Given the description of an element on the screen output the (x, y) to click on. 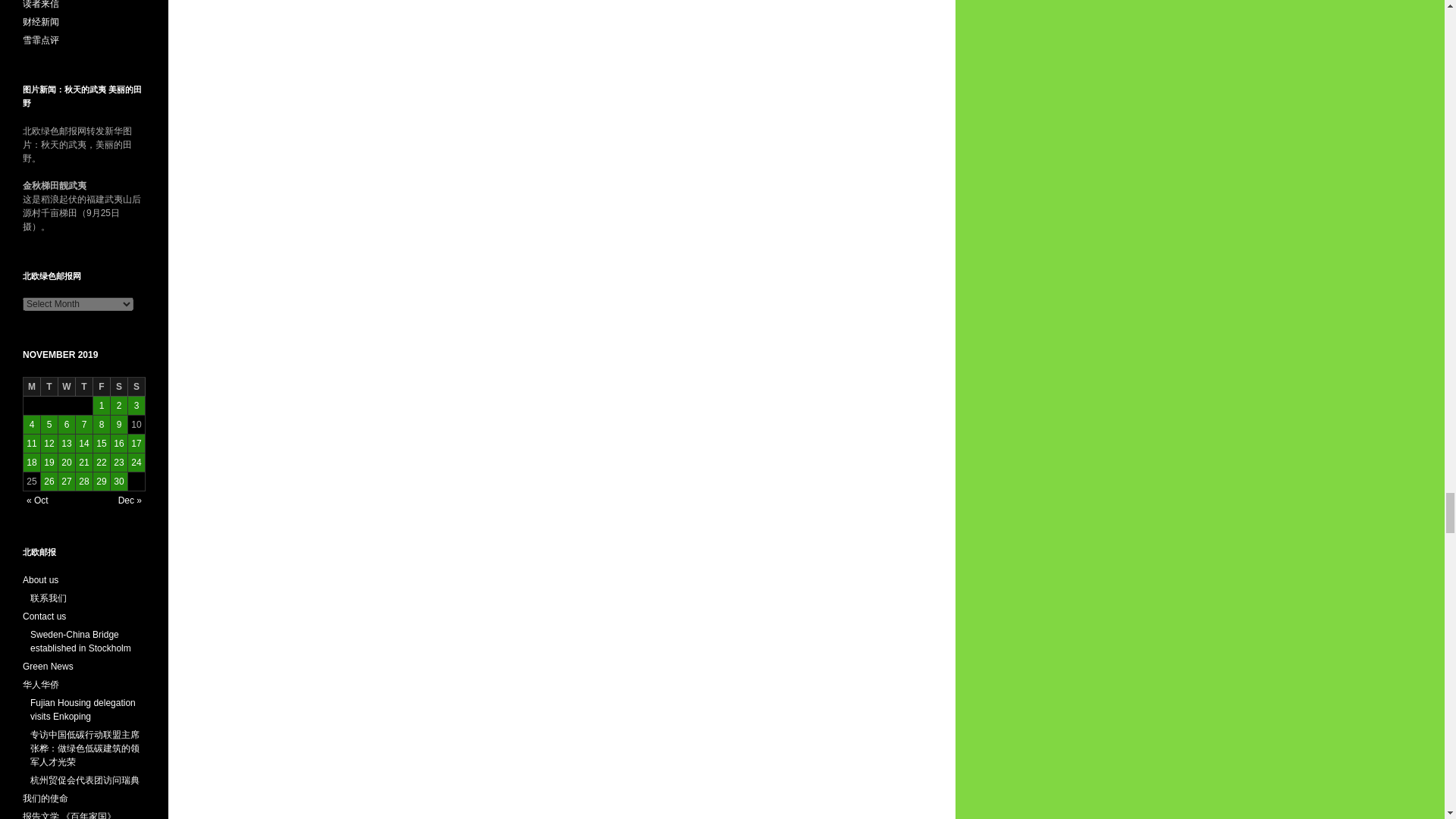
Wednesday (66, 386)
Tuesday (49, 386)
Friday (101, 386)
Saturday (119, 386)
Monday (31, 386)
Thursday (84, 386)
